Given the description of an element on the screen output the (x, y) to click on. 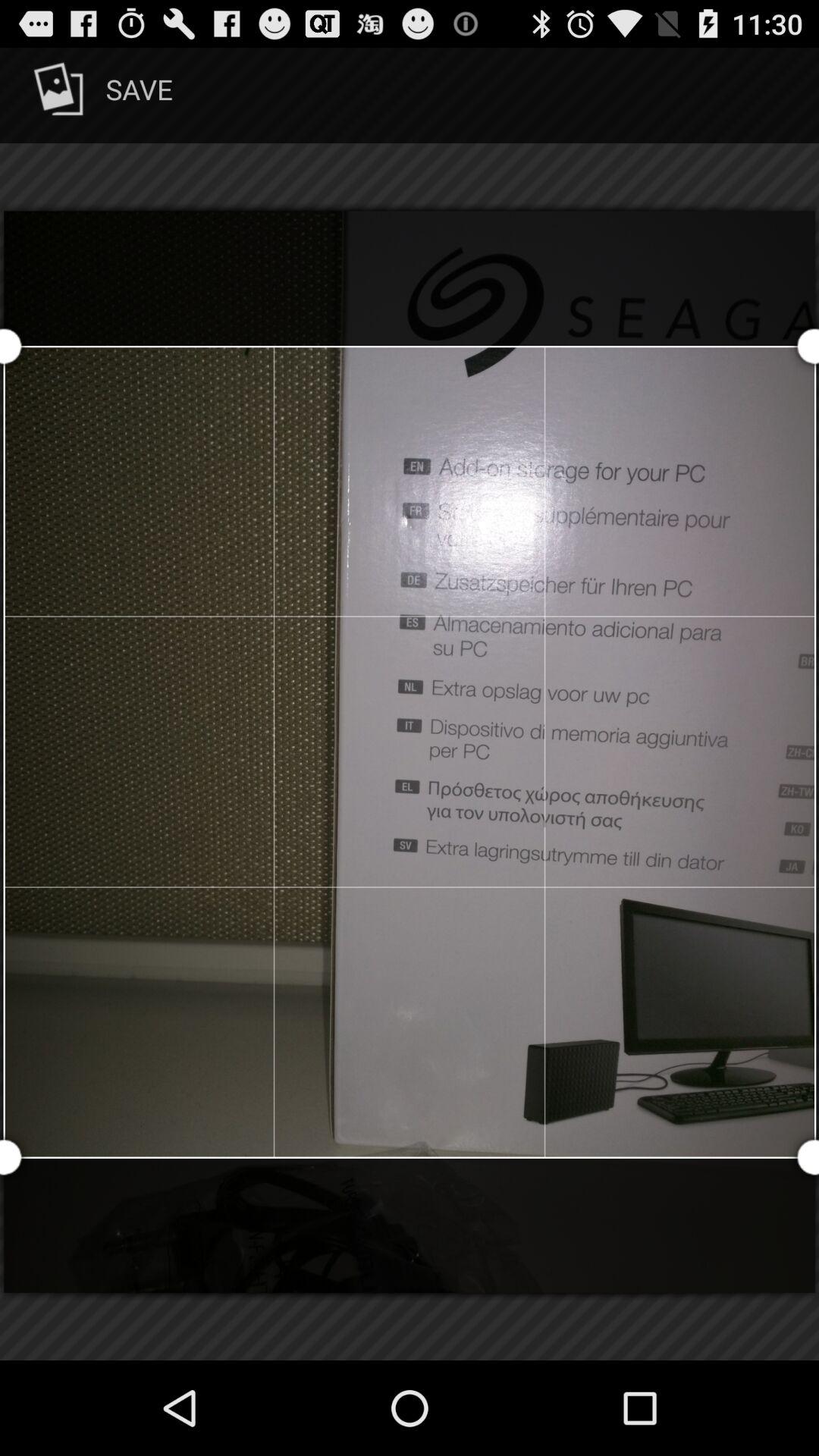
press the save item (100, 95)
